Given the description of an element on the screen output the (x, y) to click on. 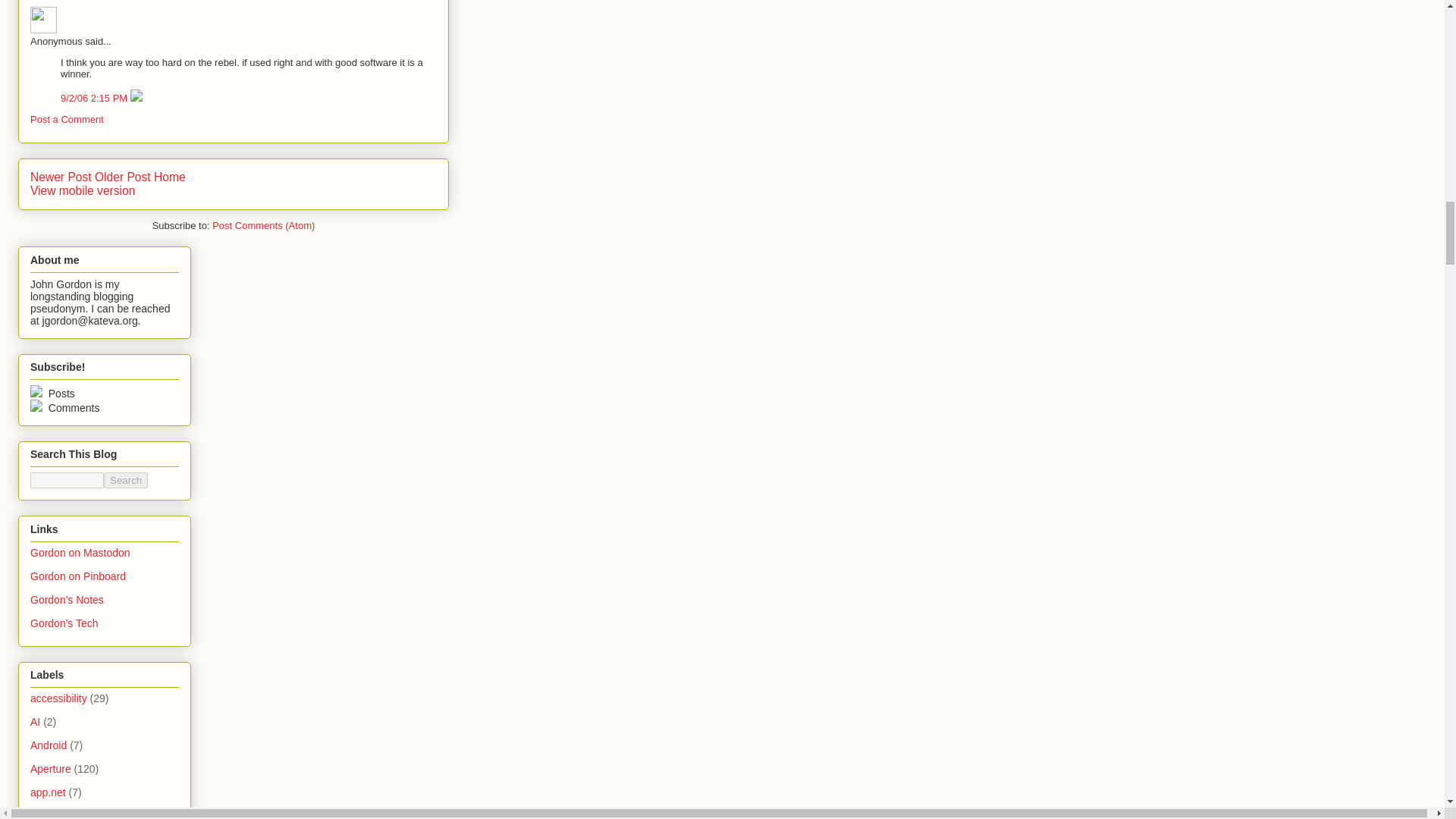
Older Post (122, 176)
Delete Comment (136, 98)
search (125, 480)
Search (125, 480)
Gordon's Notes (66, 599)
Search (125, 480)
Newer Post (60, 176)
Anonymous (43, 19)
Gordon on Pinboard (77, 576)
View mobile version (82, 190)
Newer Post (60, 176)
Search (125, 480)
Gordon's Tech (64, 623)
Home (170, 176)
search (66, 480)
